Given the description of an element on the screen output the (x, y) to click on. 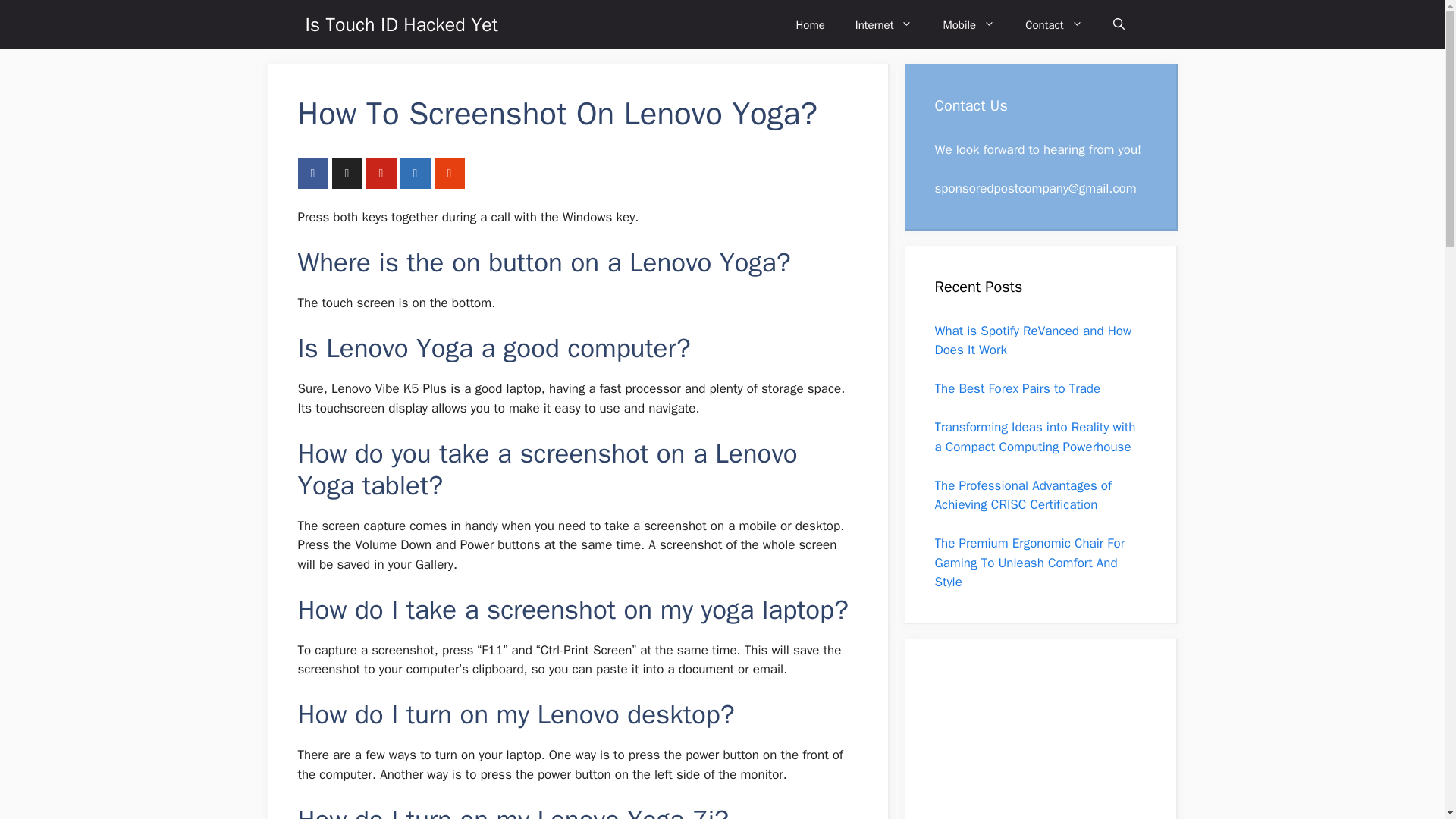
Contact (1053, 23)
Home (810, 23)
Is Touch ID Hacked Yet (400, 24)
Mobile (968, 23)
Advertisement (1031, 744)
Internet (884, 23)
